Given the description of an element on the screen output the (x, y) to click on. 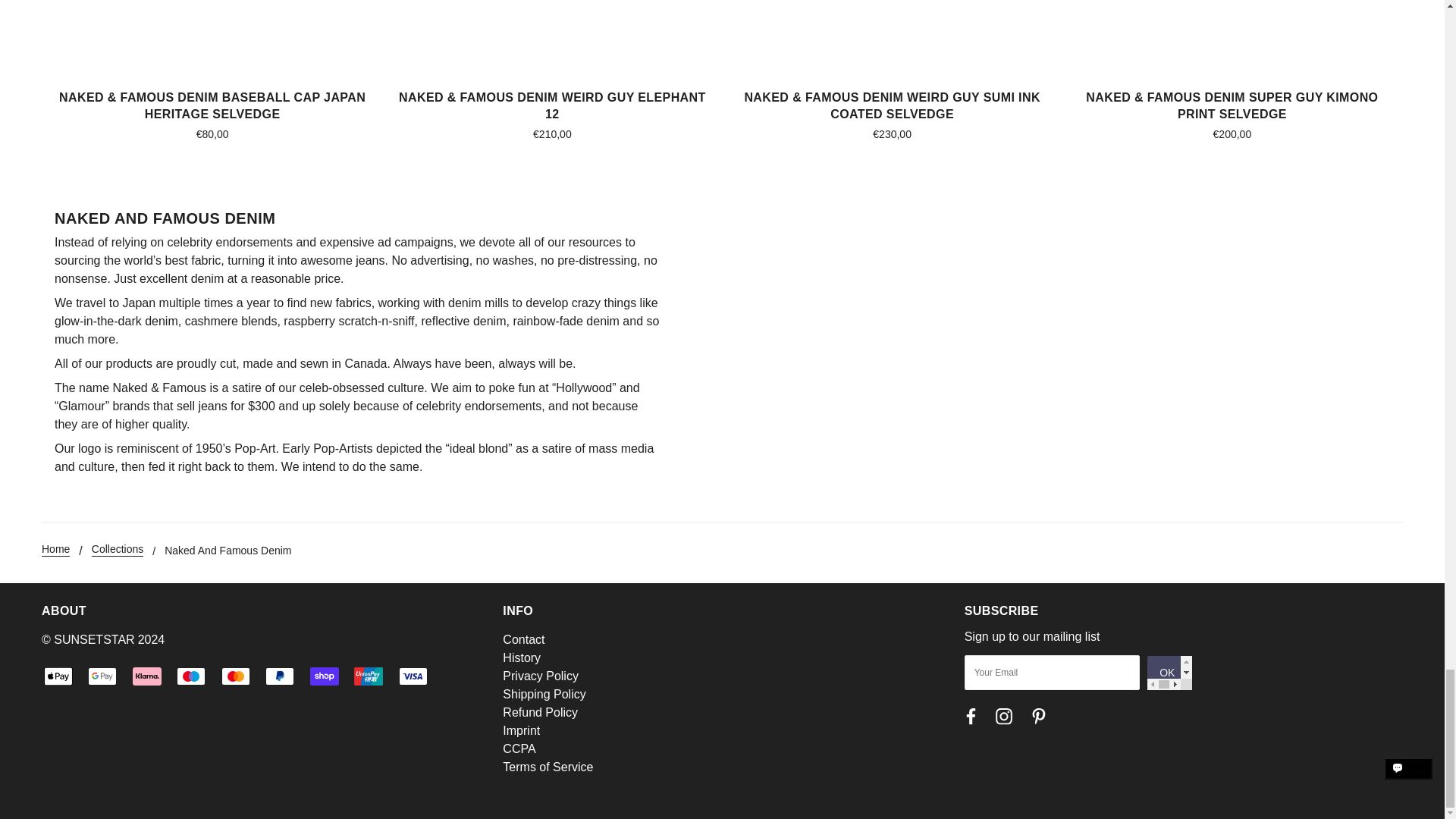
Terms of Service (547, 766)
Union Pay (367, 676)
Klarna (146, 676)
Ok (1169, 673)
CCPA (518, 748)
Refund Policy (540, 712)
Apple Pay (57, 676)
PayPal (279, 676)
Shipping Policy (543, 694)
Imprint (521, 730)
History (521, 657)
Shop Pay (324, 676)
Contact (523, 639)
Privacy Policy (540, 675)
Maestro (190, 676)
